Given the description of an element on the screen output the (x, y) to click on. 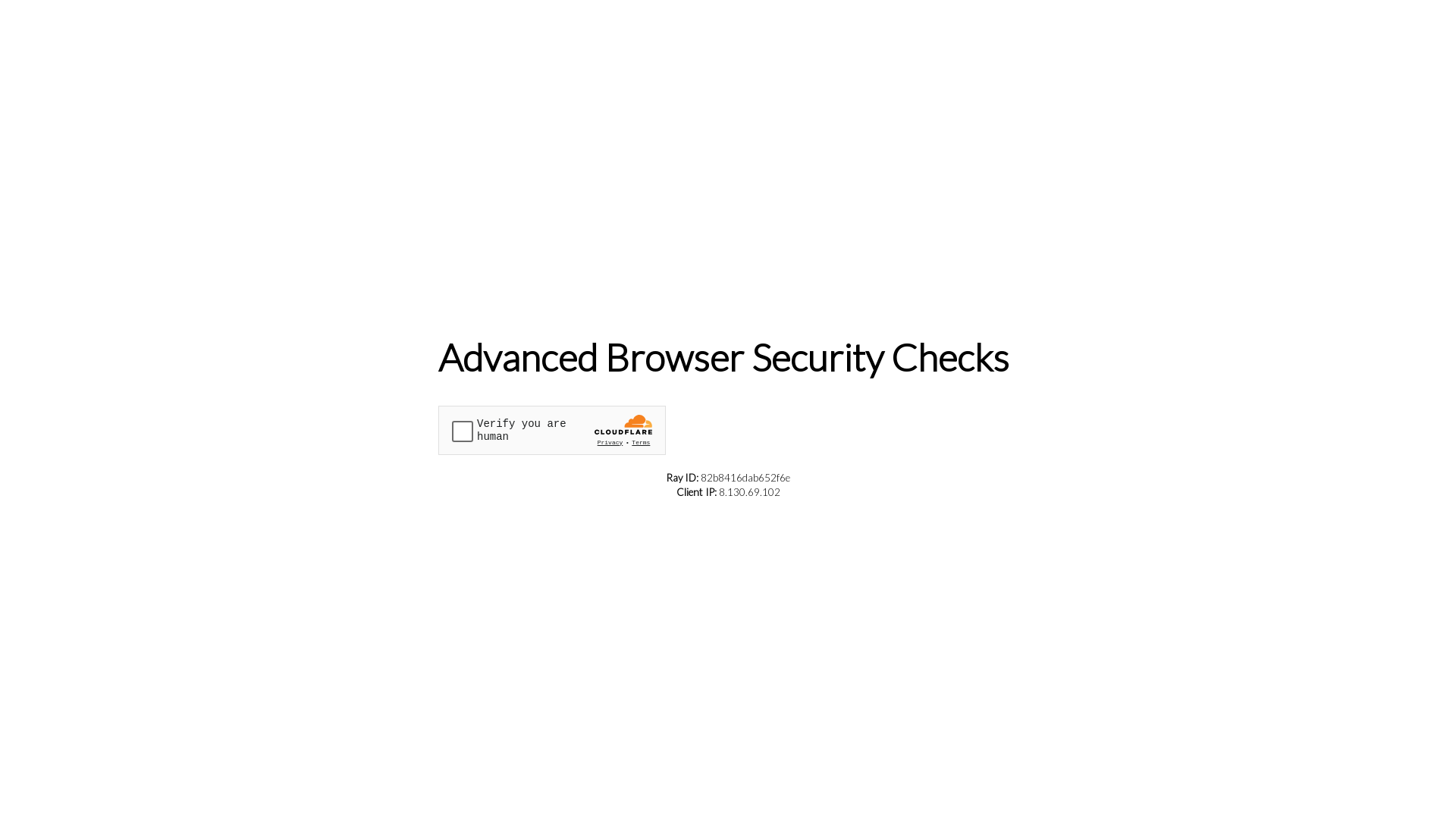
Widget containing a Cloudflare security challenge Element type: hover (551, 429)
